Given the description of an element on the screen output the (x, y) to click on. 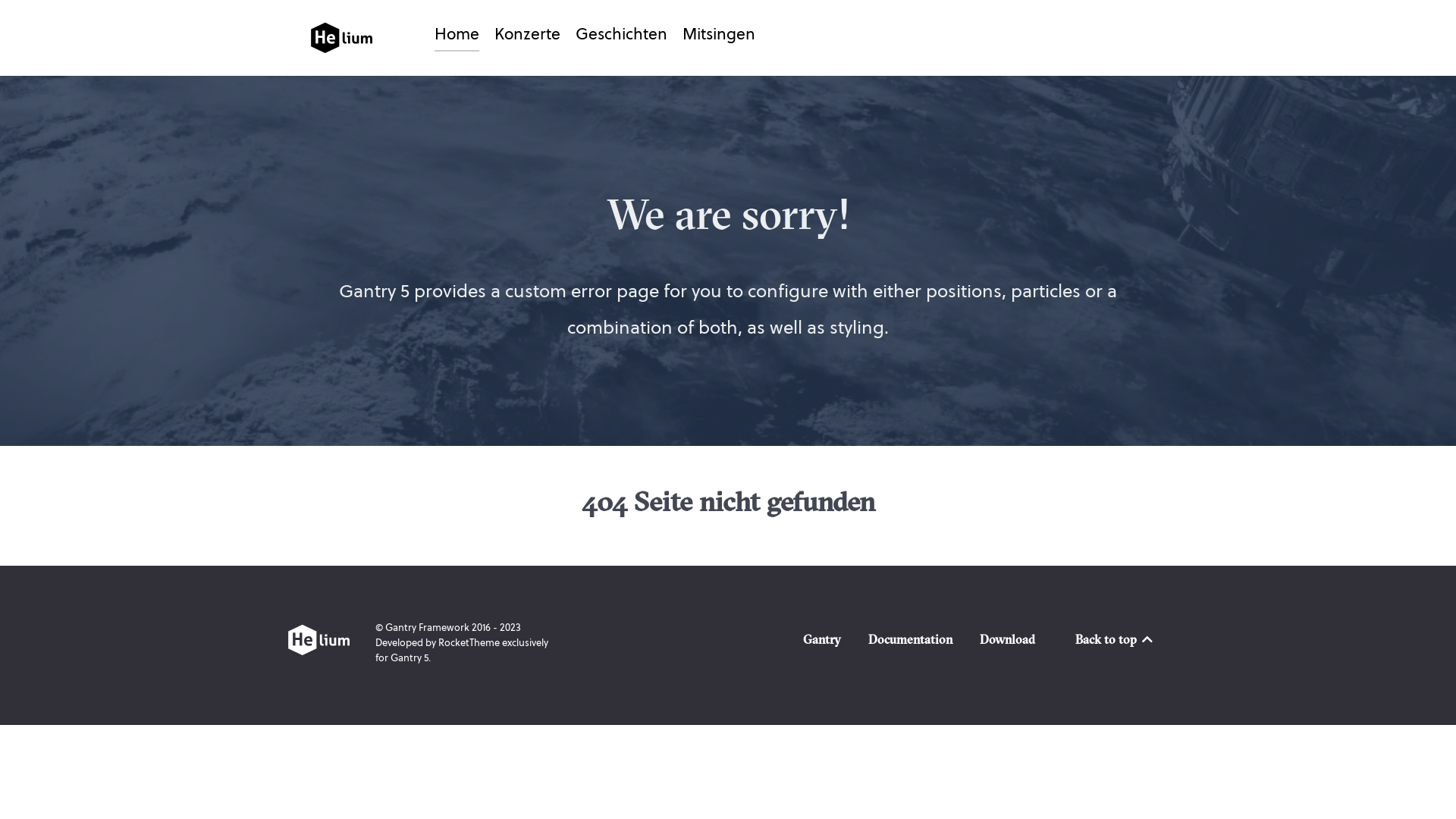
Back to top Element type: text (1114, 638)
Mitsingen Element type: text (718, 36)
Documentation Element type: text (910, 642)
Geschichten Element type: text (621, 36)
Gantry Element type: text (821, 642)
Konzerte Element type: text (527, 36)
Home Element type: text (456, 36)
Download Element type: text (1007, 642)
